Given the description of an element on the screen output the (x, y) to click on. 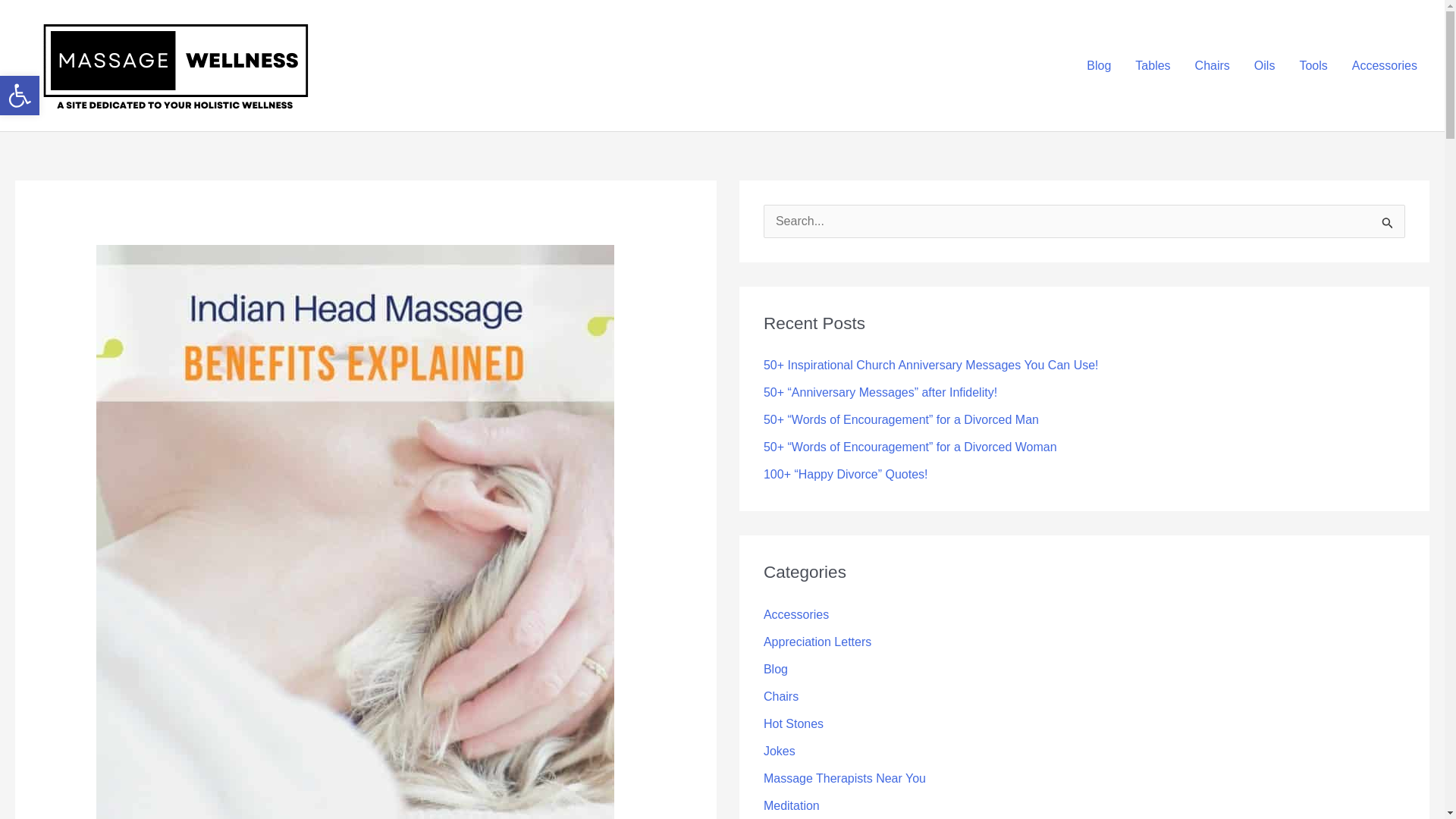
Tables (1152, 65)
Accessories (1384, 65)
Blog (1098, 65)
Accessibility Tools (19, 95)
Chairs (1211, 65)
Tools (1313, 65)
